Given the description of an element on the screen output the (x, y) to click on. 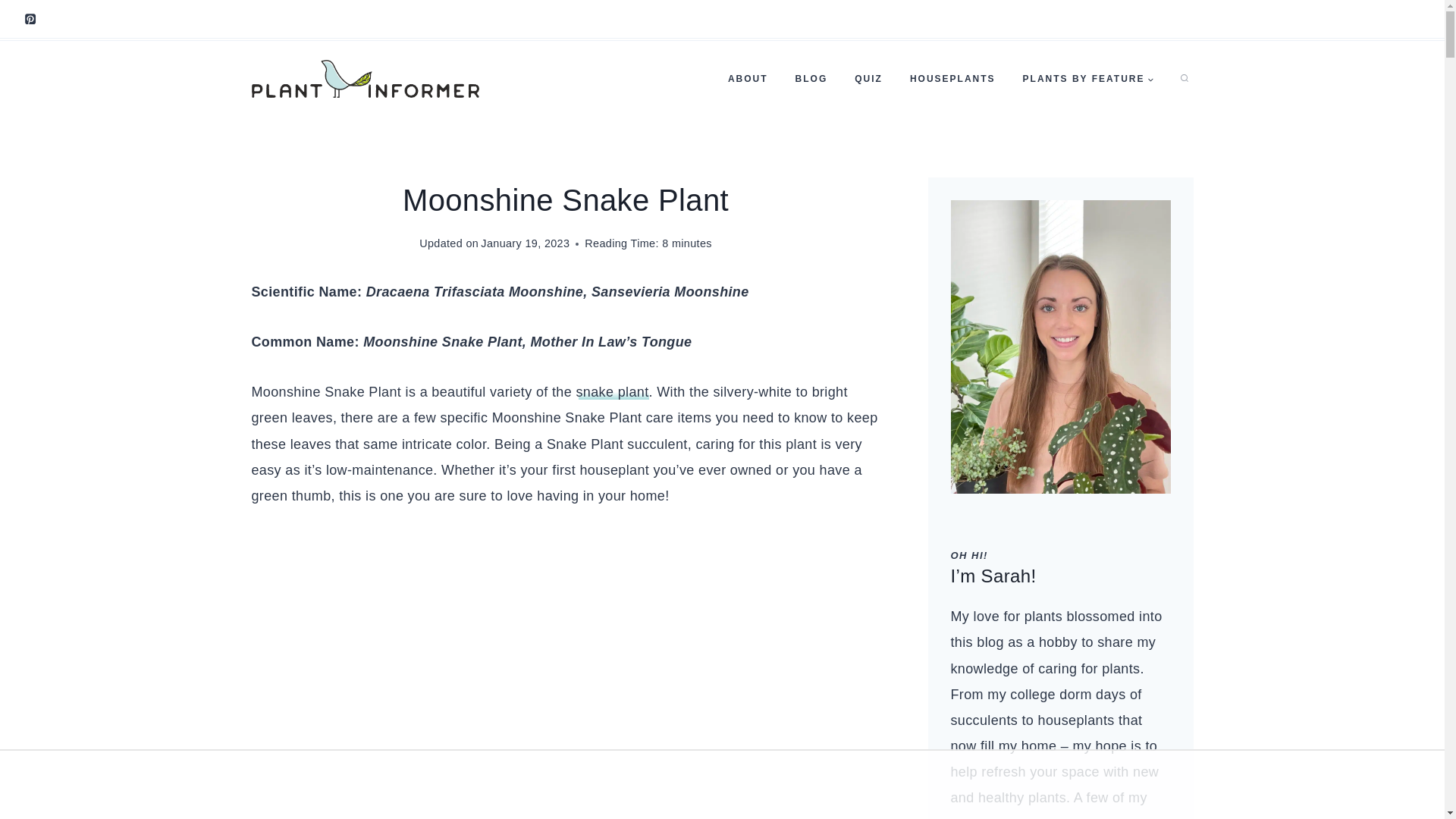
BLOG (811, 79)
HOUSEPLANTS (952, 79)
ABOUT (747, 79)
PLANTS BY FEATURE (1088, 79)
QUIZ (868, 79)
